Given the description of an element on the screen output the (x, y) to click on. 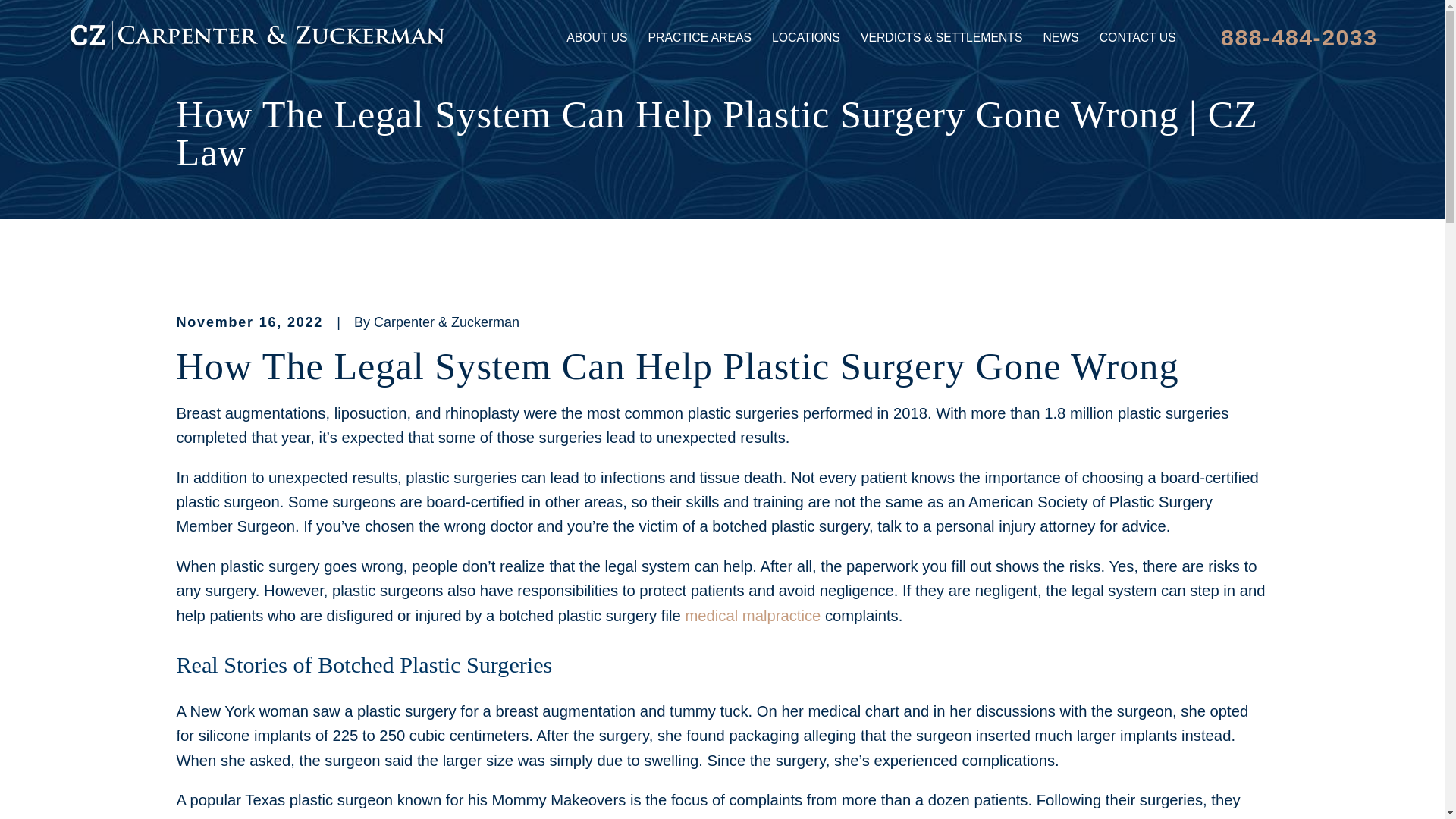
PRACTICE AREAS (699, 37)
Home (255, 38)
ABOUT US (596, 37)
